Given the description of an element on the screen output the (x, y) to click on. 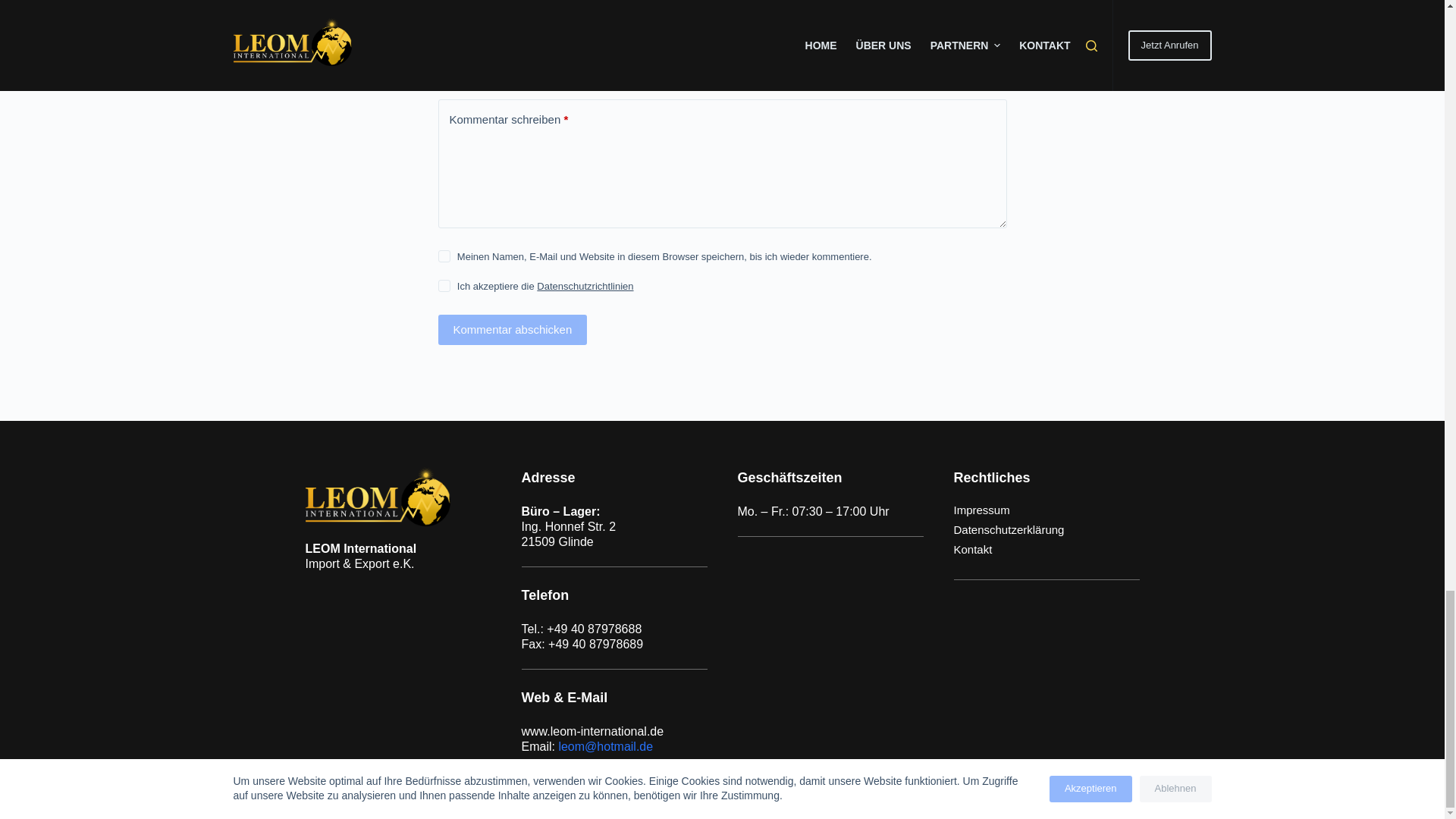
on (443, 285)
yes (443, 256)
